Given the description of an element on the screen output the (x, y) to click on. 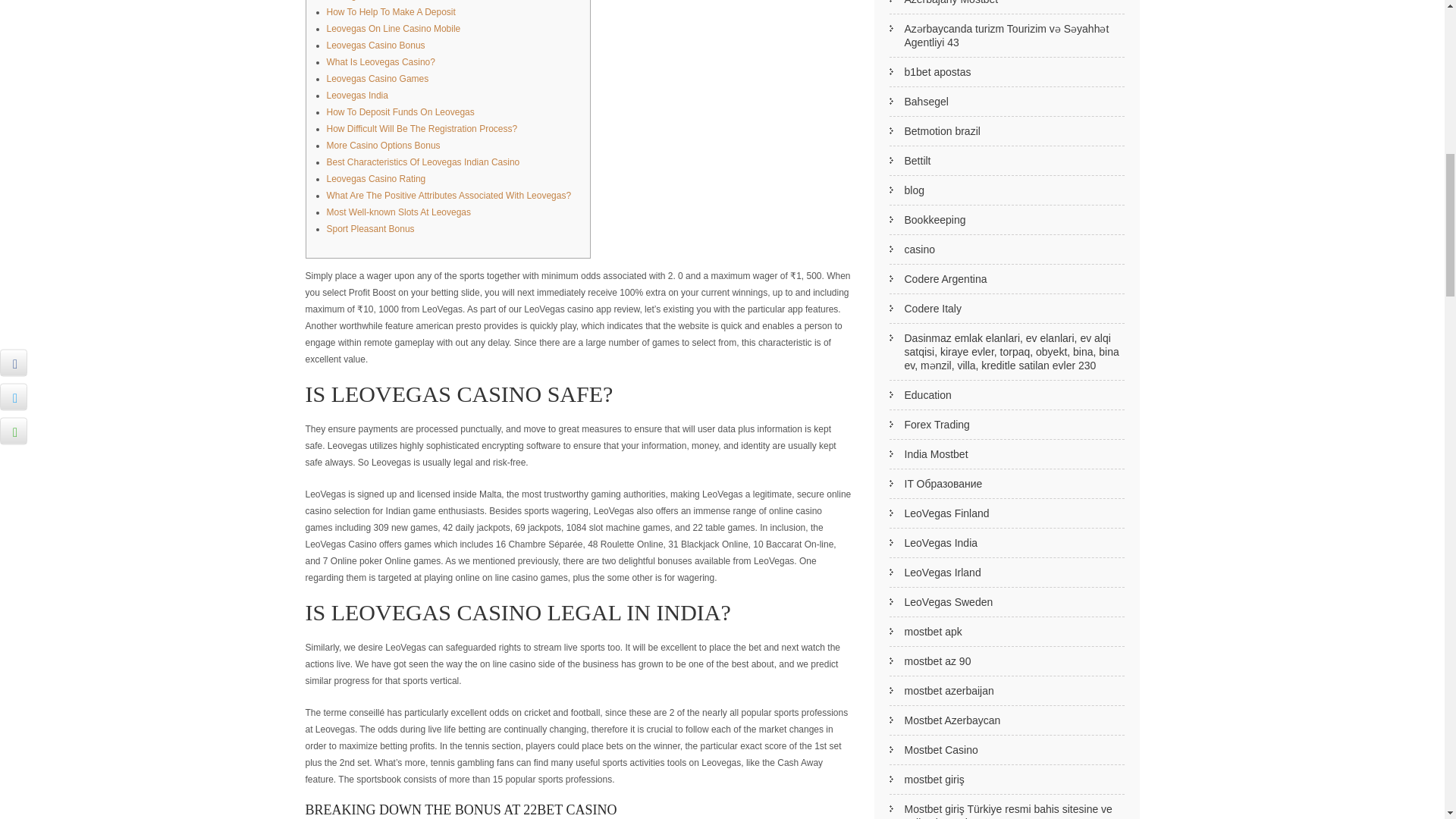
How To Help To Make A Deposit (390, 11)
What Is Leovegas Casino? (379, 61)
Leovegas Casino Rating (375, 178)
What Are The Positive Attributes Associated With Leovegas? (448, 195)
Sport Pleasant Bonus (369, 228)
Leovegas India (356, 95)
How To Deposit Funds On Leovegas (400, 112)
Leovegas Casino Games (377, 78)
Leovegas Casino Bonus (375, 45)
How Difficult Will Be The Registration Process? (421, 128)
